Given the description of an element on the screen output the (x, y) to click on. 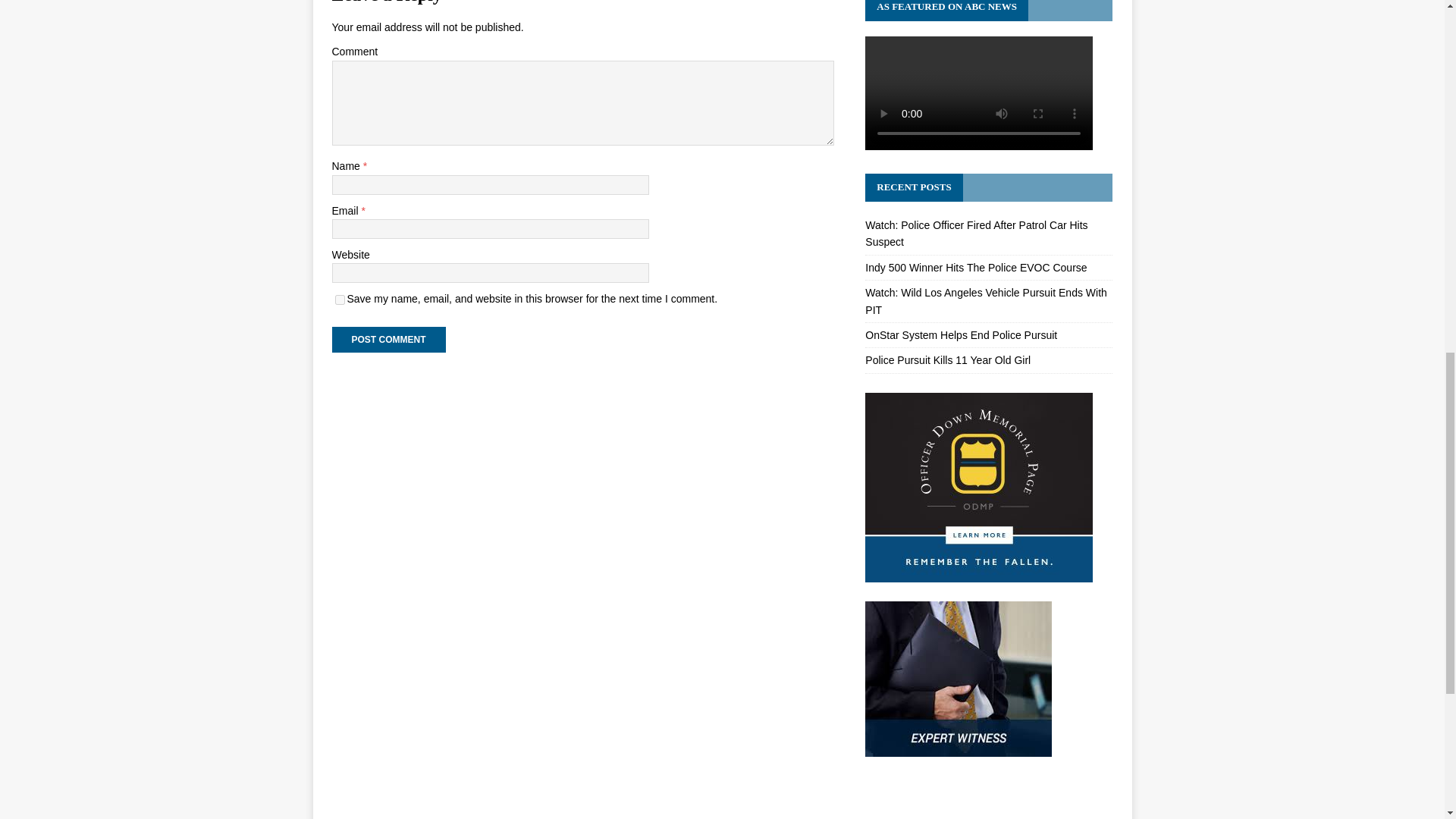
Watch: Police Officer Fired After Patrol Car Hits Suspect (975, 233)
Post Comment (388, 339)
Indy 500 Winner Hits The Police EVOC Course (975, 267)
Post Comment (388, 339)
OnStar System Helps End Police Pursuit (960, 335)
yes (339, 299)
Police Pursuit Kills 11 Year Old Girl (947, 359)
Watch: Wild Los Angeles Vehicle Pursuit Ends With PIT (985, 300)
Kegenix by Real Ketones, Unlock Your True Potential (978, 797)
